Given the description of an element on the screen output the (x, y) to click on. 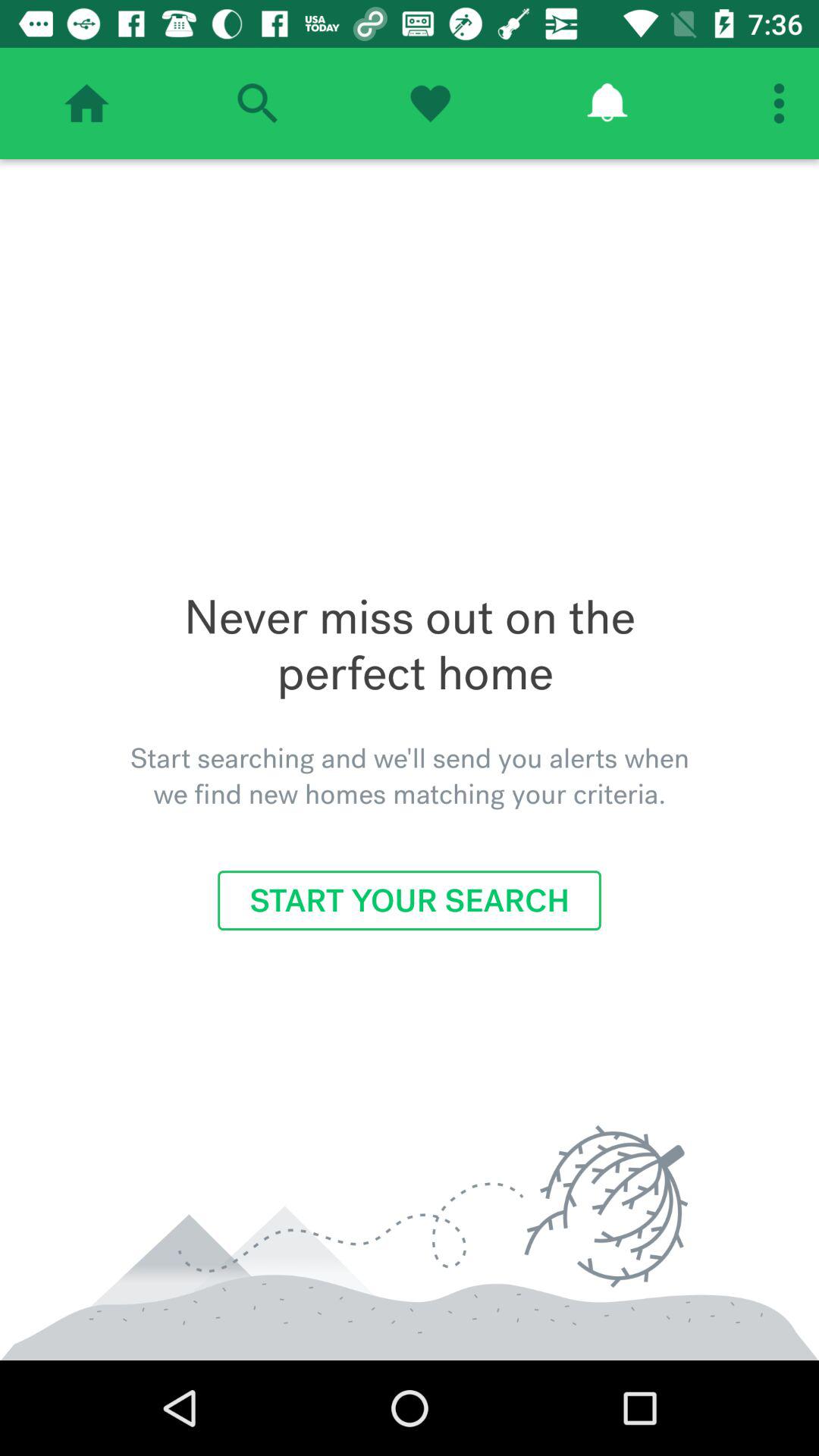
return to main page (86, 103)
